Given the description of an element on the screen output the (x, y) to click on. 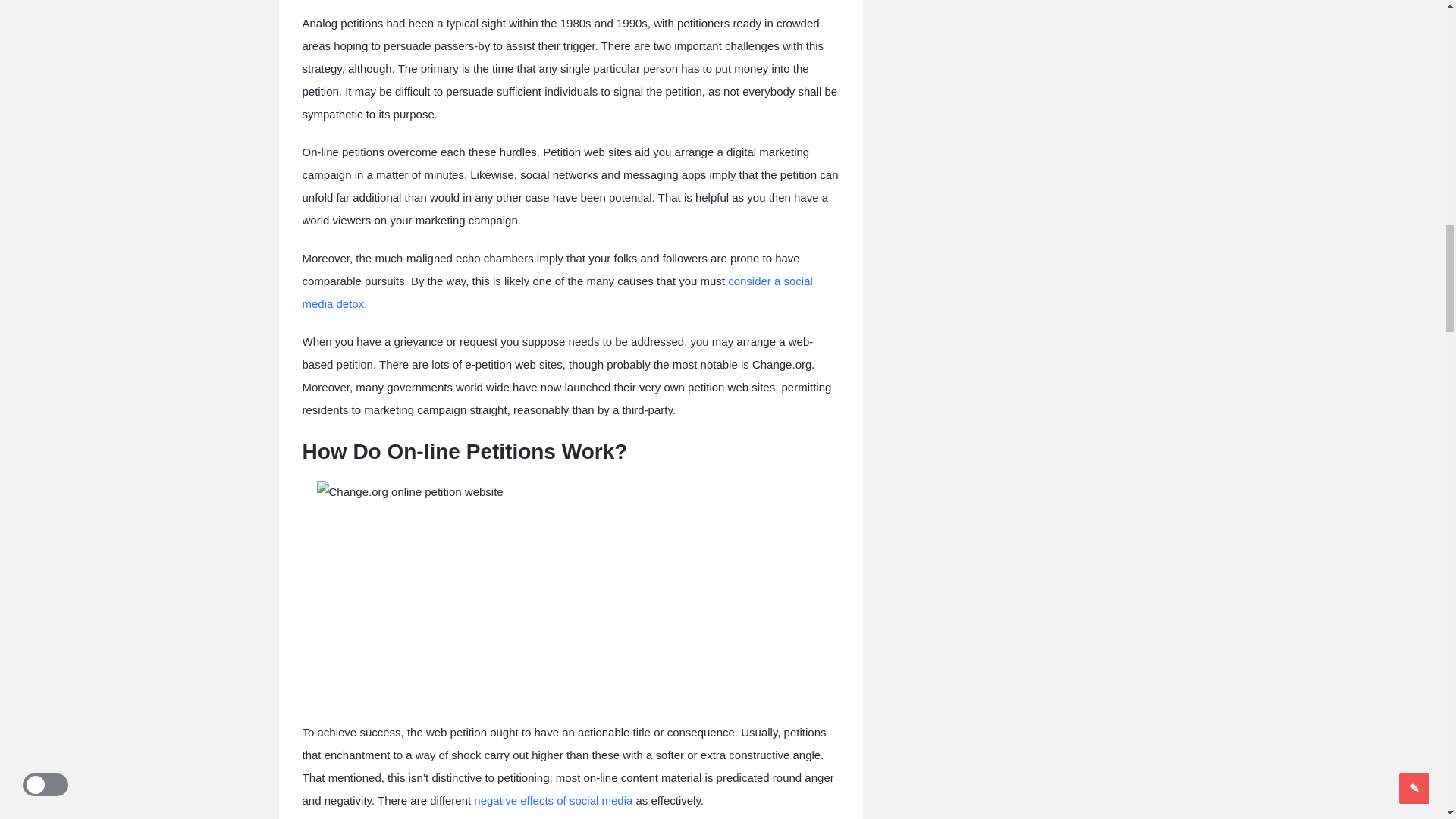
consider a social media detox (556, 292)
